Given the description of an element on the screen output the (x, y) to click on. 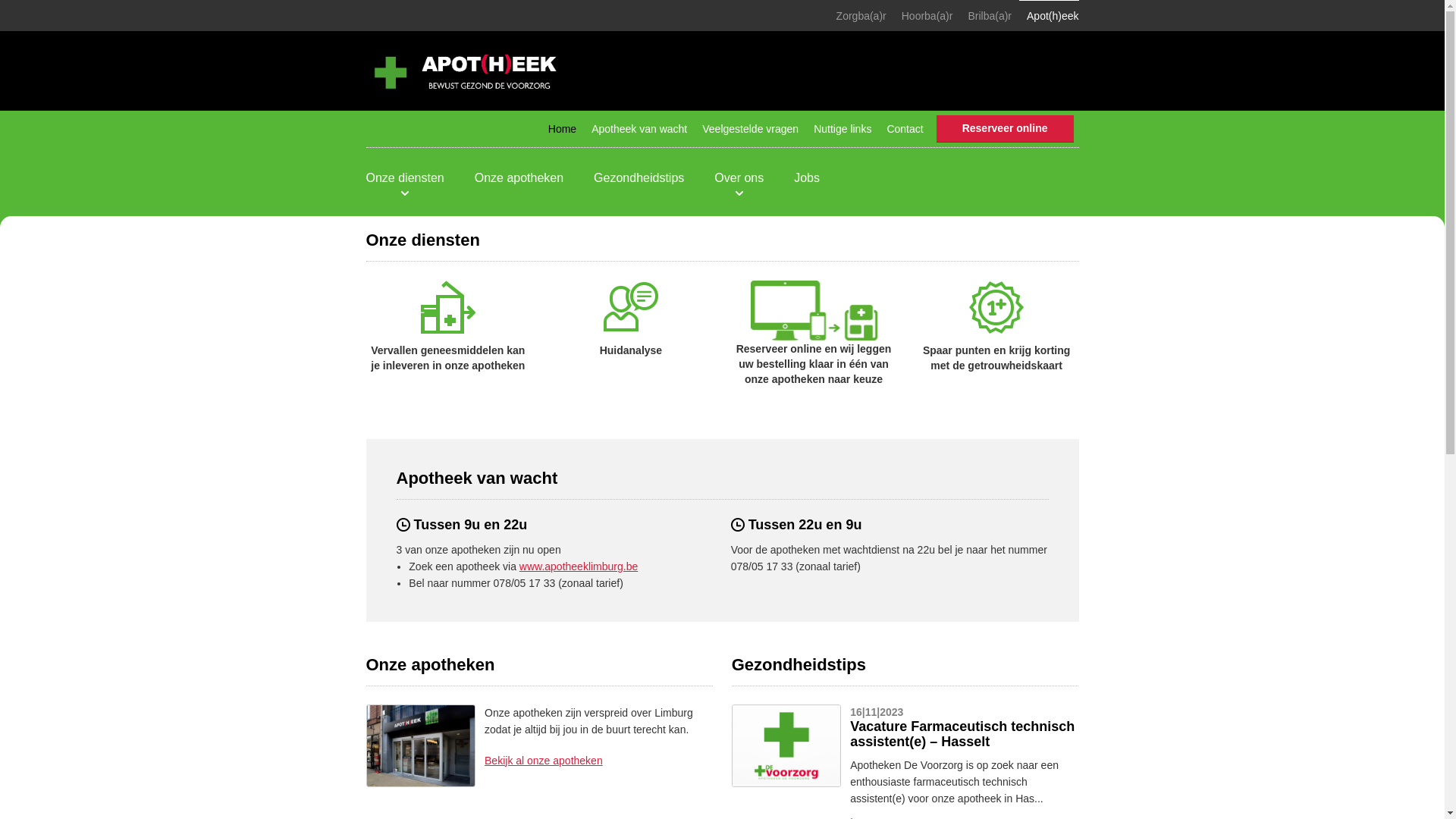
Jobs Element type: text (806, 177)
Gezondheidstips Element type: text (638, 177)
Onze apotheken Element type: text (518, 177)
www.apotheeklimburg.be Element type: text (578, 566)
Nuttige links Element type: text (842, 128)
Contact Element type: text (904, 128)
Brilba(a)r Element type: text (989, 15)
Apotheek van wacht Element type: text (638, 128)
Reserveer online Element type: text (1004, 127)
Apot(h)eek Element type: text (1048, 15)
Hoorba(a)r Element type: text (927, 15)
Zorgba(a)r Element type: text (861, 15)
Onze diensten Element type: text (404, 177)
Over ons Element type: text (738, 177)
Bekijk al onze apotheken Element type: text (543, 760)
Veelgestelde vragen Element type: text (750, 128)
Home Element type: text (561, 128)
